Given the description of an element on the screen output the (x, y) to click on. 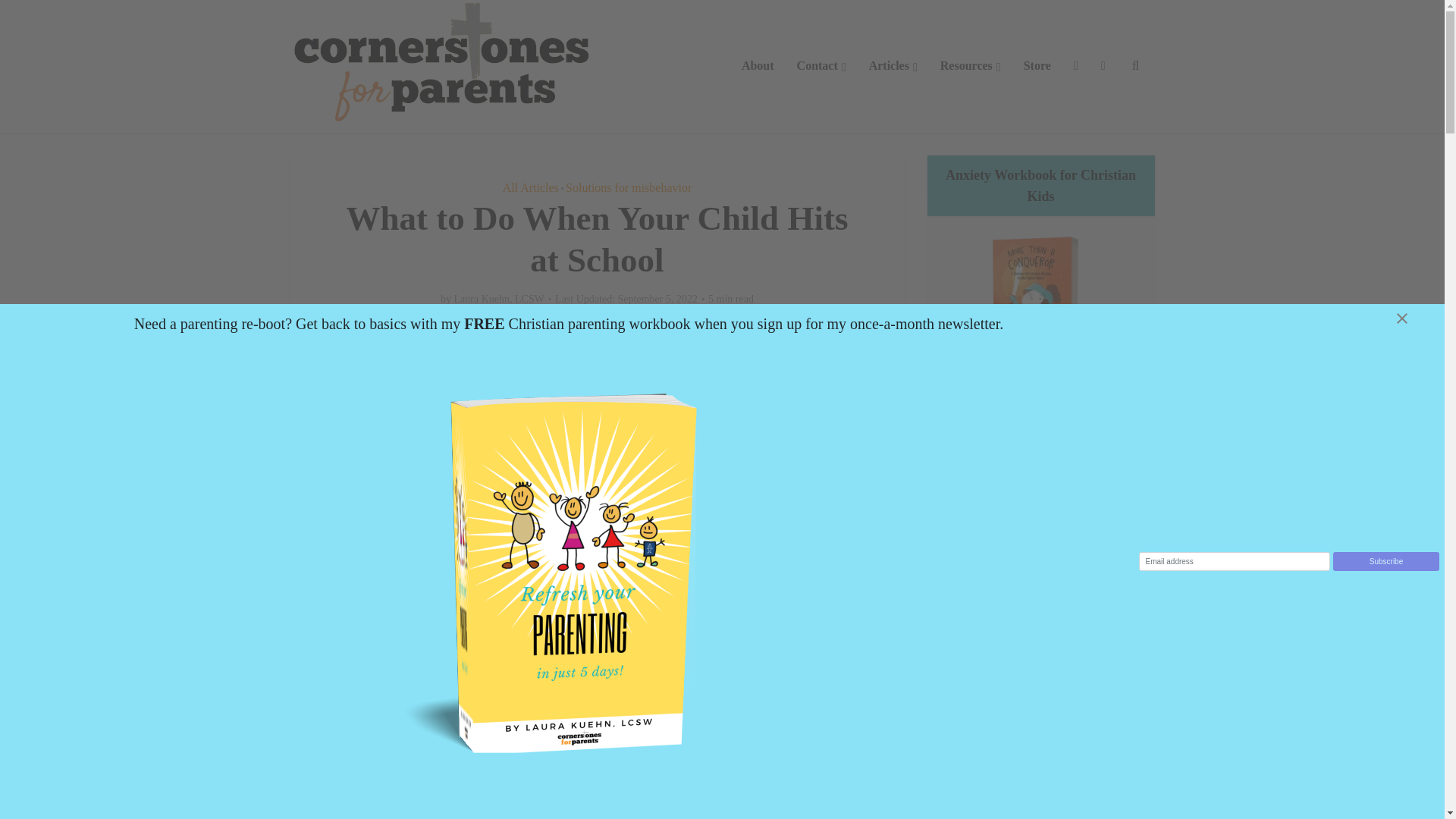
All Articles (530, 187)
Resources (969, 65)
Laura Kuehn, LCSW (499, 299)
Contact (821, 65)
About (758, 65)
Store (1036, 65)
Subscribe (1386, 561)
Solutions for misbehavior (628, 187)
Articles (892, 65)
